Given the description of an element on the screen output the (x, y) to click on. 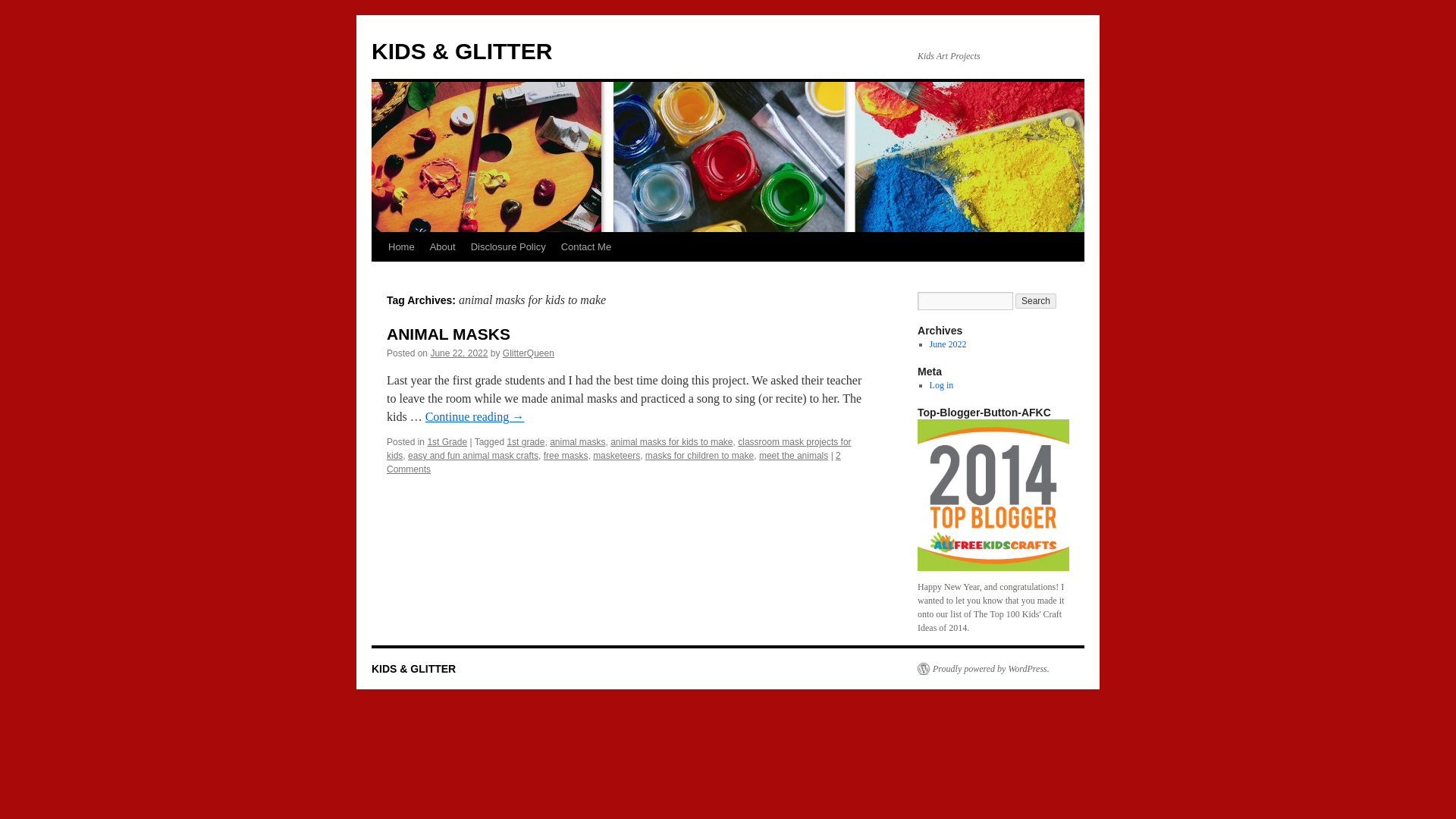
ANIMAL MASKS (449, 334)
1st Grade (446, 441)
animal masks (577, 441)
Search (1035, 300)
meet the animals (793, 455)
easy and fun animal mask crafts (472, 455)
classroom mask projects for kids (619, 448)
masks for children to make (699, 455)
Log in (941, 385)
Home (401, 246)
1:10 pm (458, 353)
2 Comments (614, 462)
About (442, 246)
June 22, 2022 (458, 353)
Search (1035, 300)
